Given the description of an element on the screen output the (x, y) to click on. 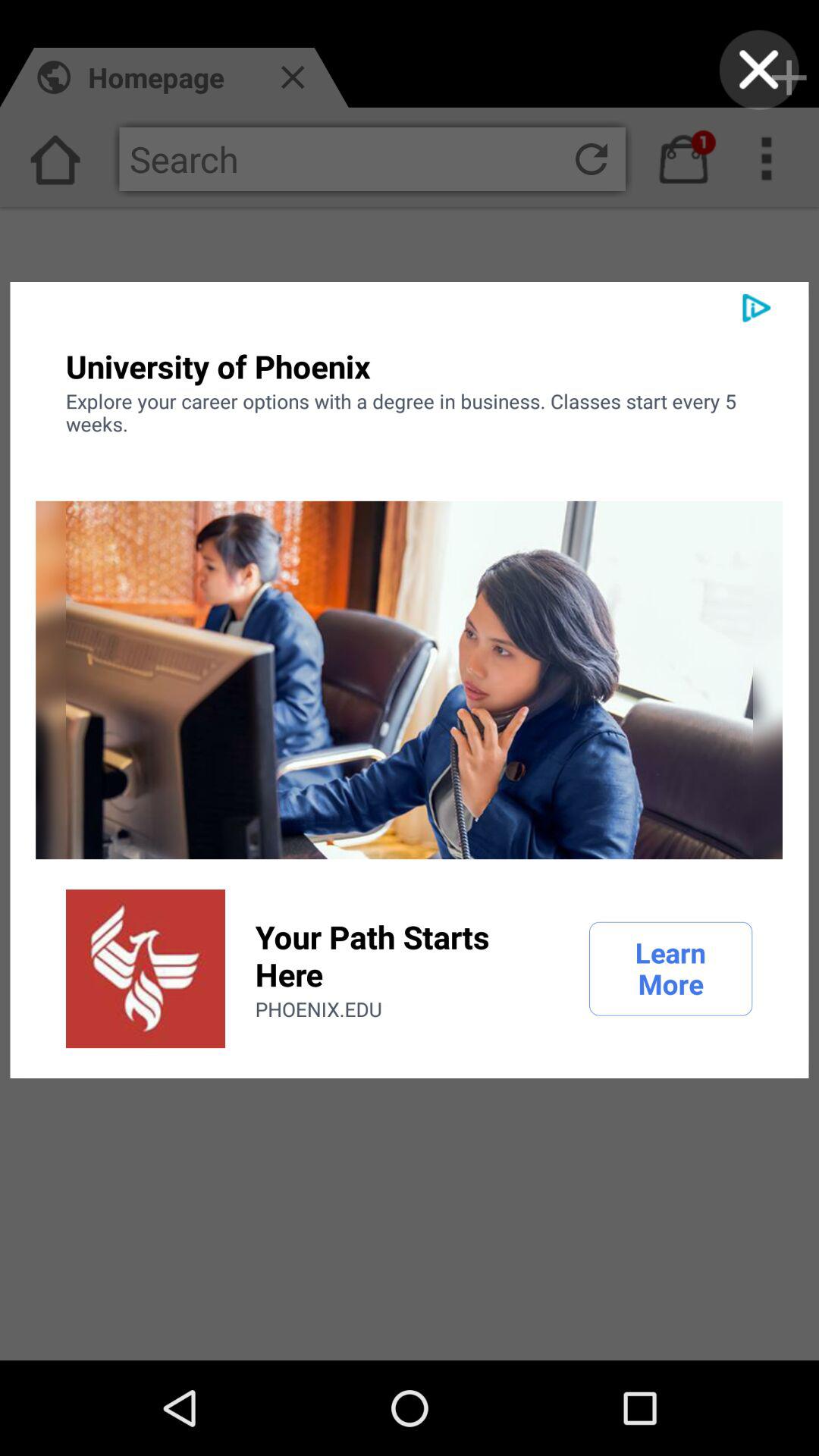
press learn more item (670, 968)
